Given the description of an element on the screen output the (x, y) to click on. 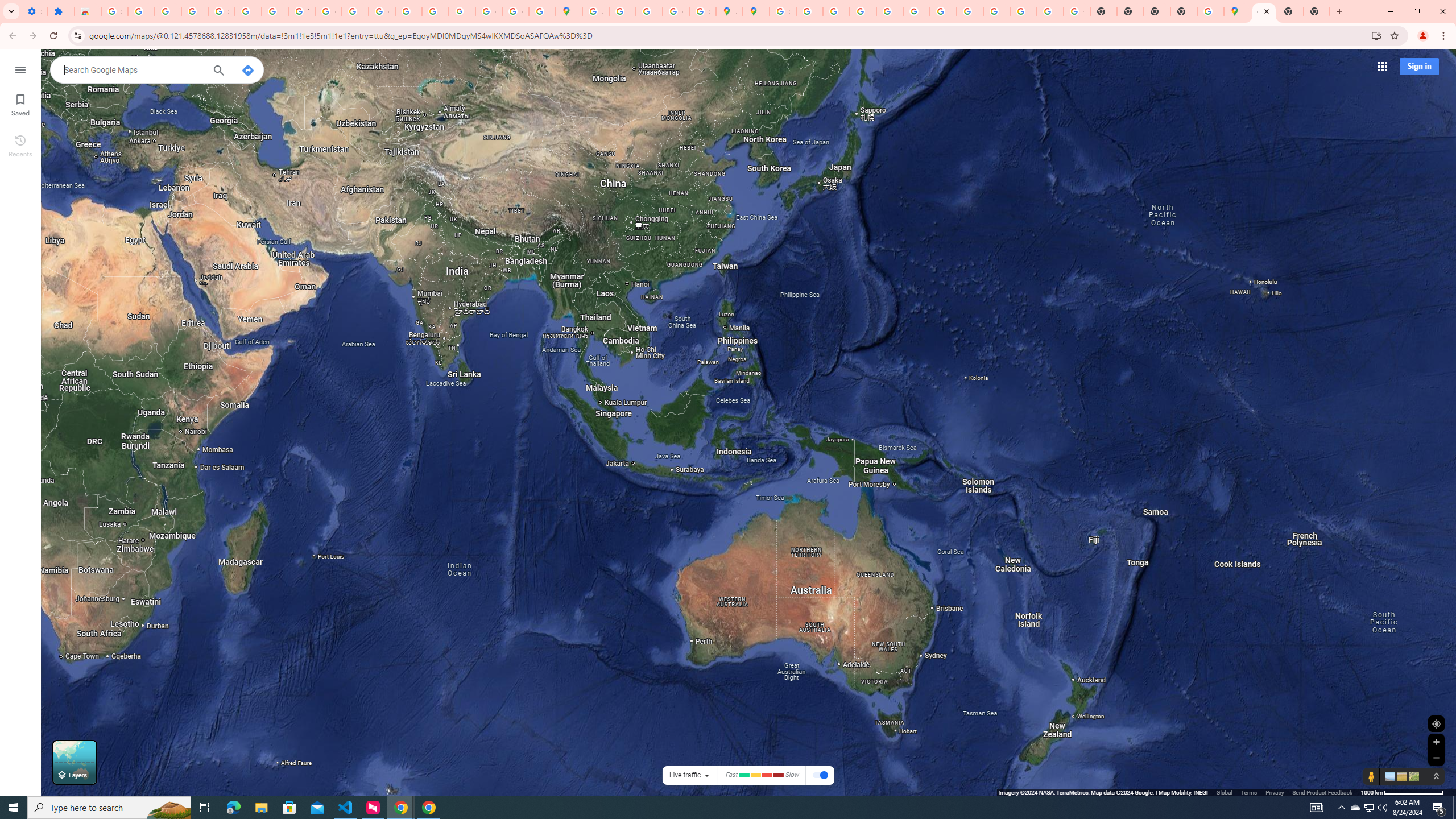
Search Google Maps (133, 69)
Safety in Our Products - Google Safety Center (702, 11)
Show imagery (1412, 776)
1000 km (1401, 792)
